Given the description of an element on the screen output the (x, y) to click on. 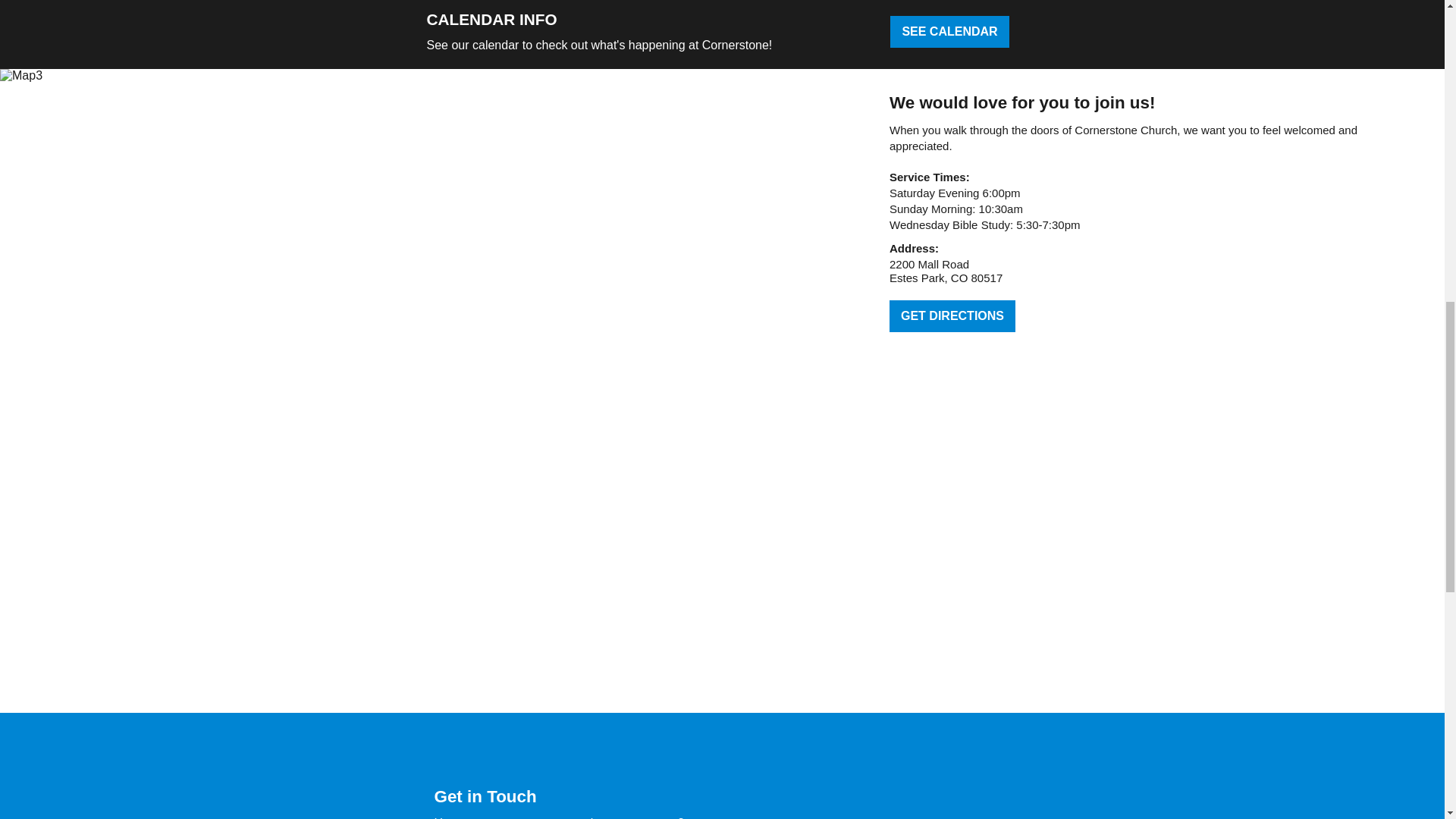
GET DIRECTIONS (951, 316)
SEE CALENDAR (949, 31)
